Given the description of an element on the screen output the (x, y) to click on. 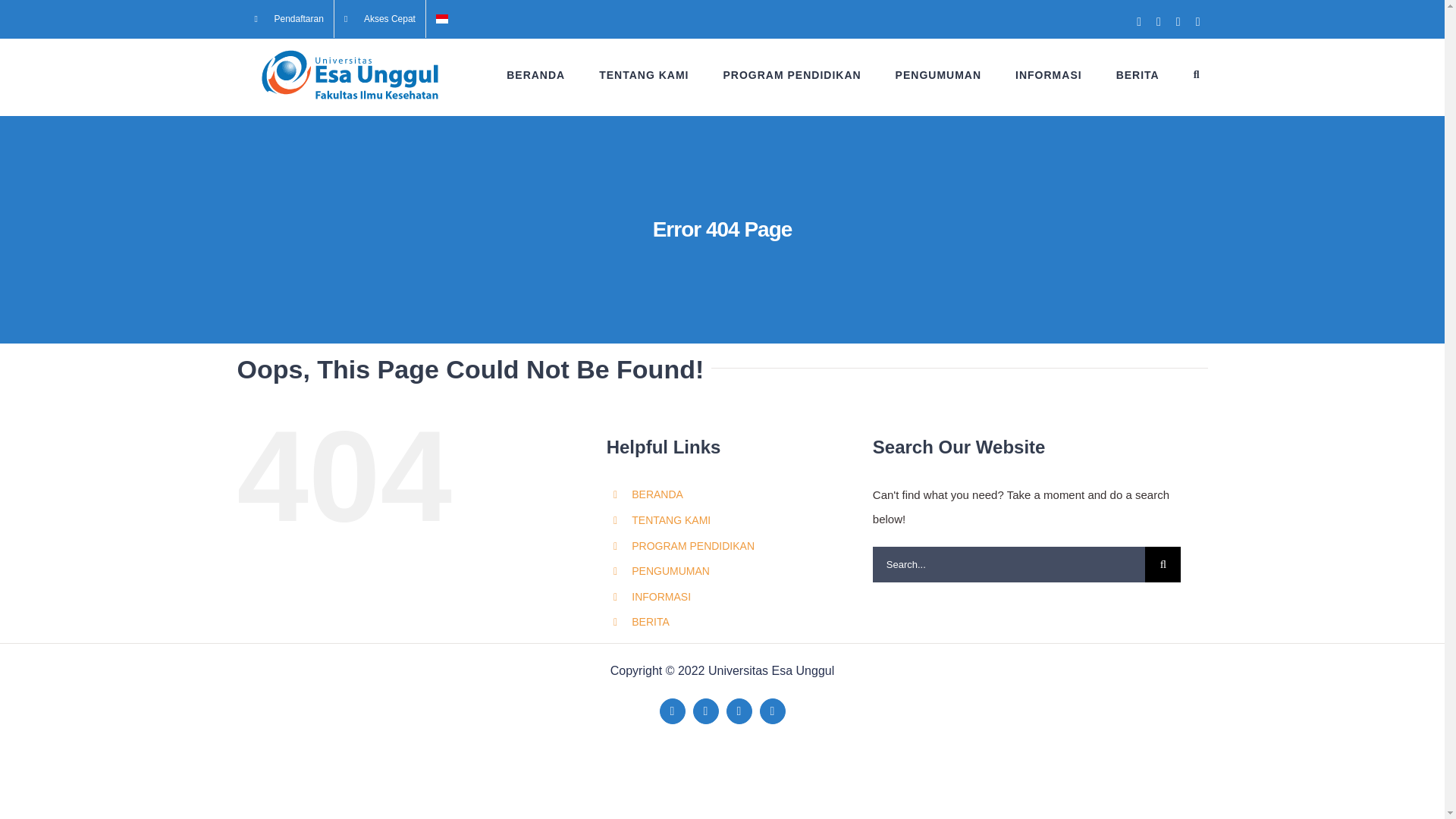
Twitter (706, 710)
Pendaftaran (288, 18)
TENTANG KAMI (643, 74)
PROGRAM PENDIDIKAN (791, 74)
YouTube (739, 710)
Instagram (773, 710)
Facebook (672, 710)
Akses Cepat (379, 18)
